Given the description of an element on the screen output the (x, y) to click on. 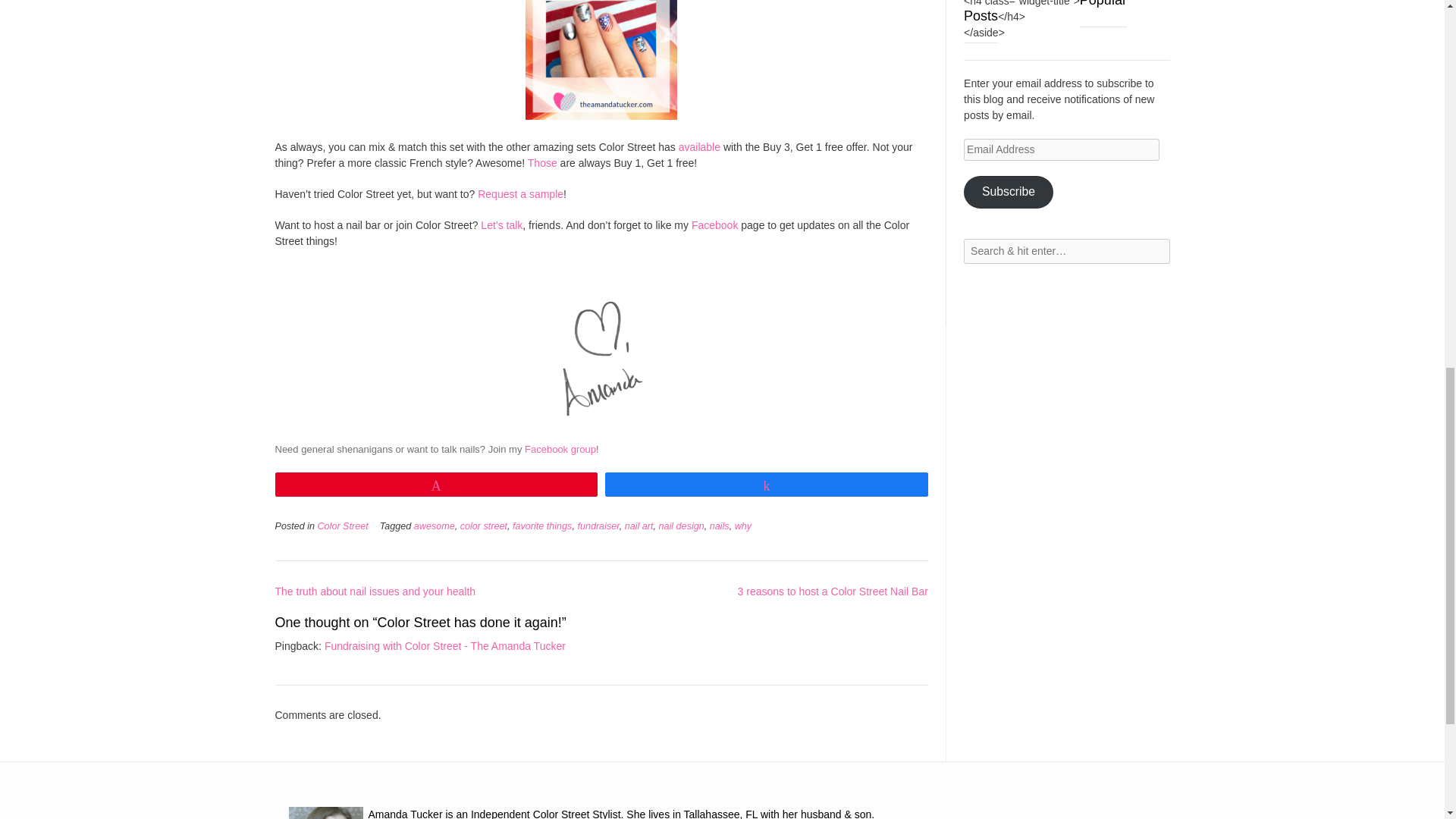
Search for: (1066, 251)
Color Street (342, 525)
favorite things (542, 525)
Facebook group (559, 449)
awesome (433, 525)
The truth about nail issues and your health (375, 591)
Those (542, 162)
3 reasons to host a Color Street Nail Bar (833, 591)
nails (719, 525)
fundraiser (597, 525)
